Given the description of an element on the screen output the (x, y) to click on. 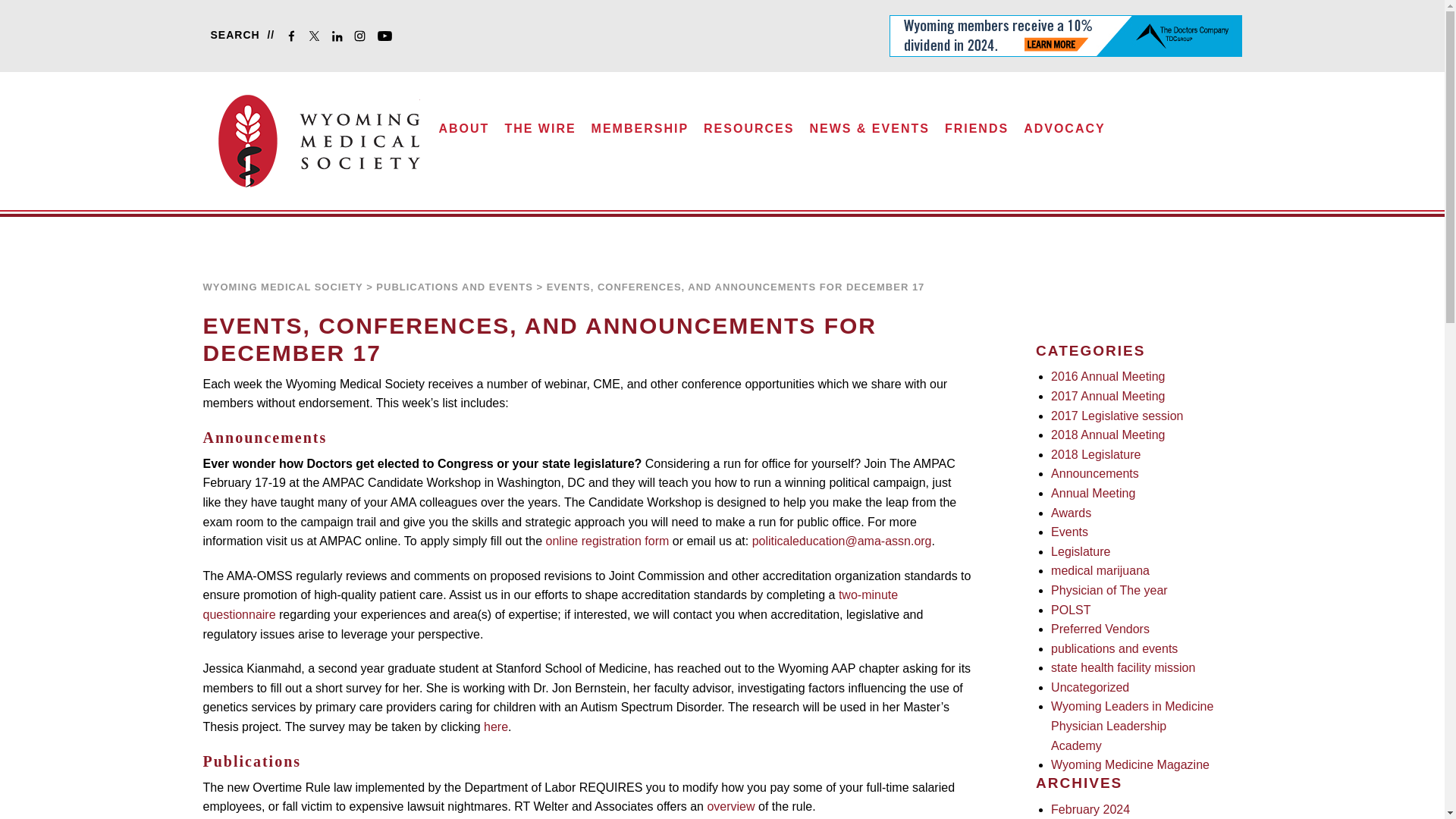
THE WIRE (539, 133)
MEMBERSHIP (640, 133)
Go to the publications and events Category archives. (453, 286)
RESOURCES (748, 133)
YOUTUBE (388, 38)
LINKEDIN (339, 38)
TWITTER (316, 38)
INSTAGRAM (362, 38)
ABOUT (464, 133)
Go to Wyoming Medical Society. (282, 286)
